Given the description of an element on the screen output the (x, y) to click on. 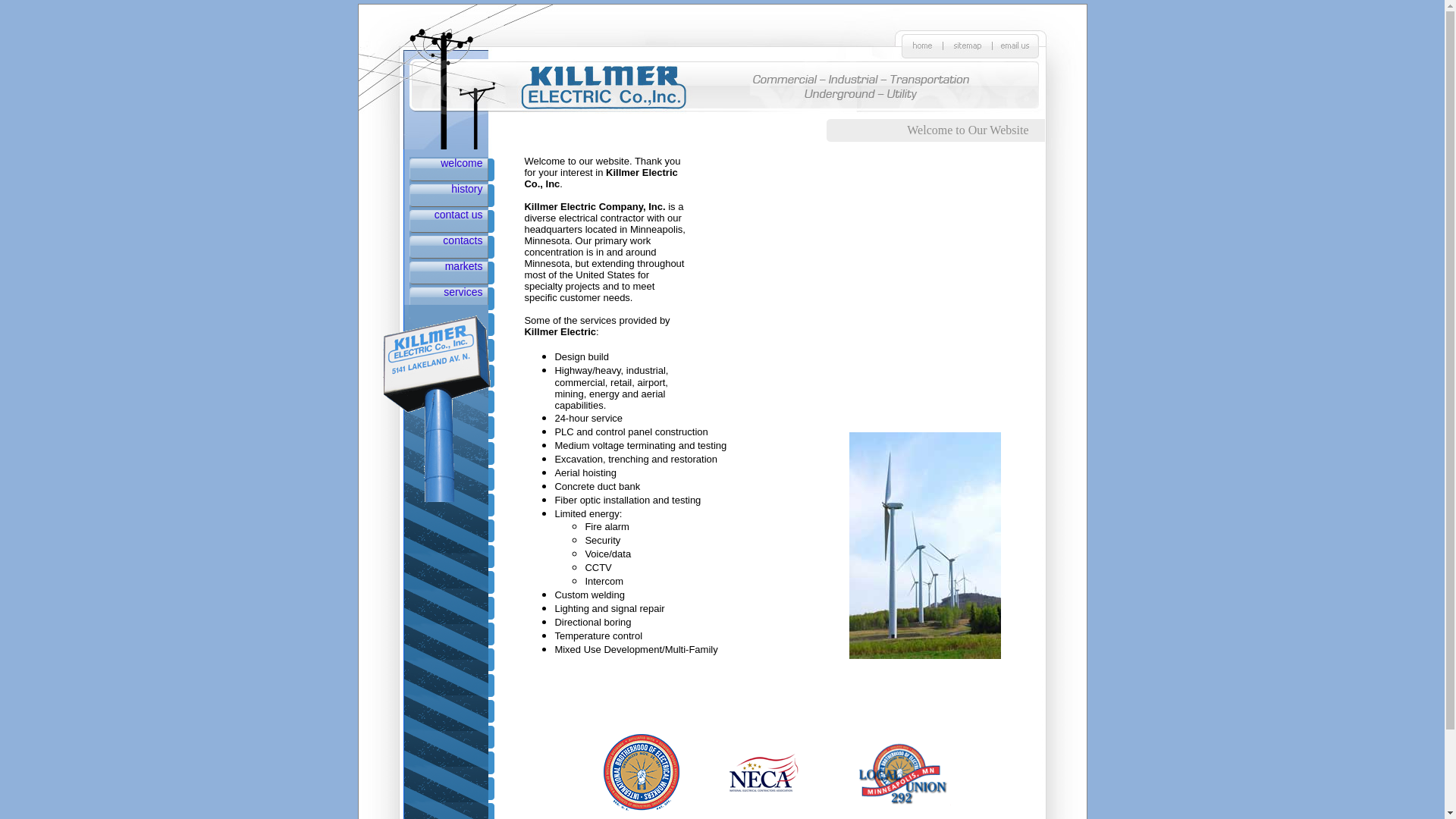
welcome (461, 162)
contact us (458, 214)
services (462, 291)
contacts (461, 240)
markets (464, 265)
history (466, 188)
